Given the description of an element on the screen output the (x, y) to click on. 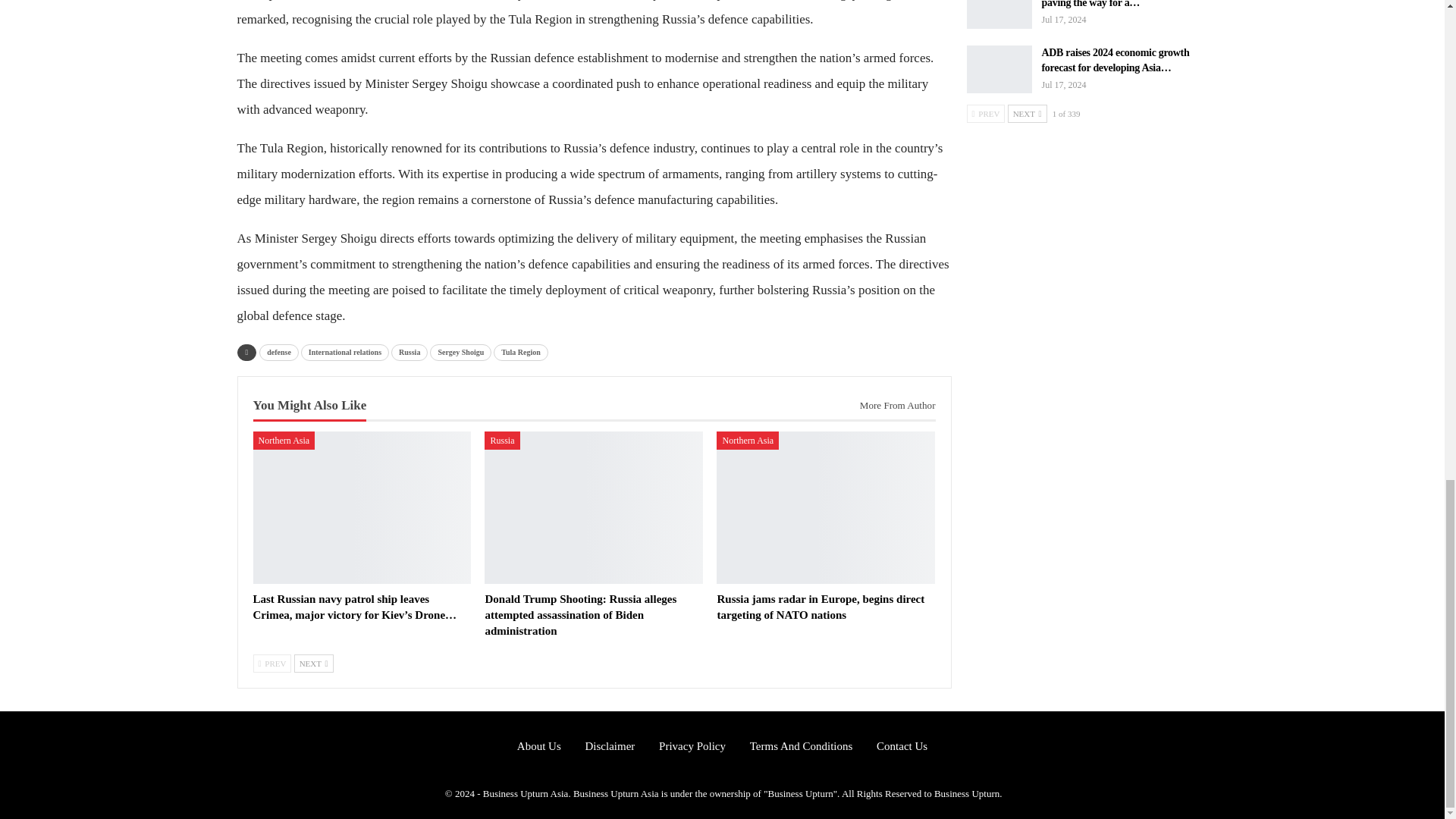
Next (313, 663)
Previous (272, 663)
